Given the description of an element on the screen output the (x, y) to click on. 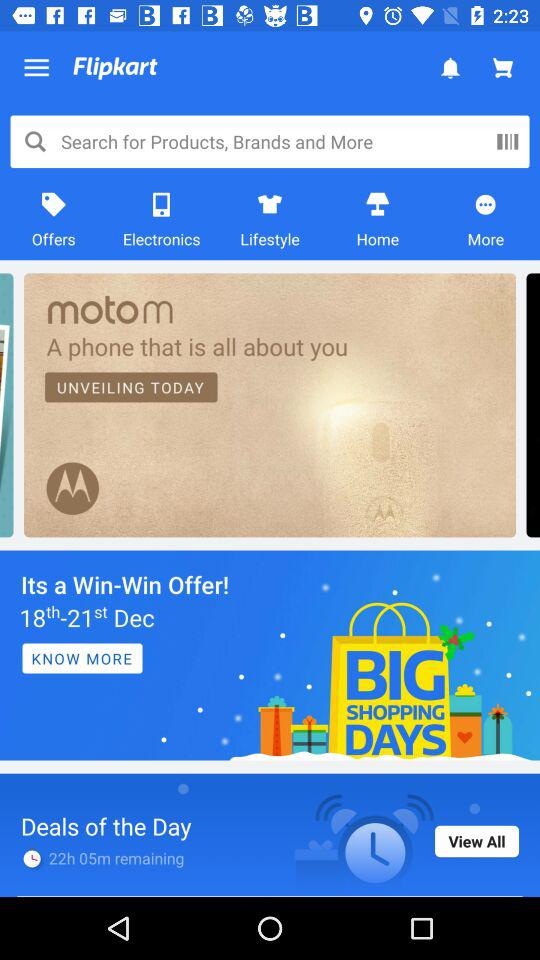
open offer (270, 655)
